Given the description of an element on the screen output the (x, y) to click on. 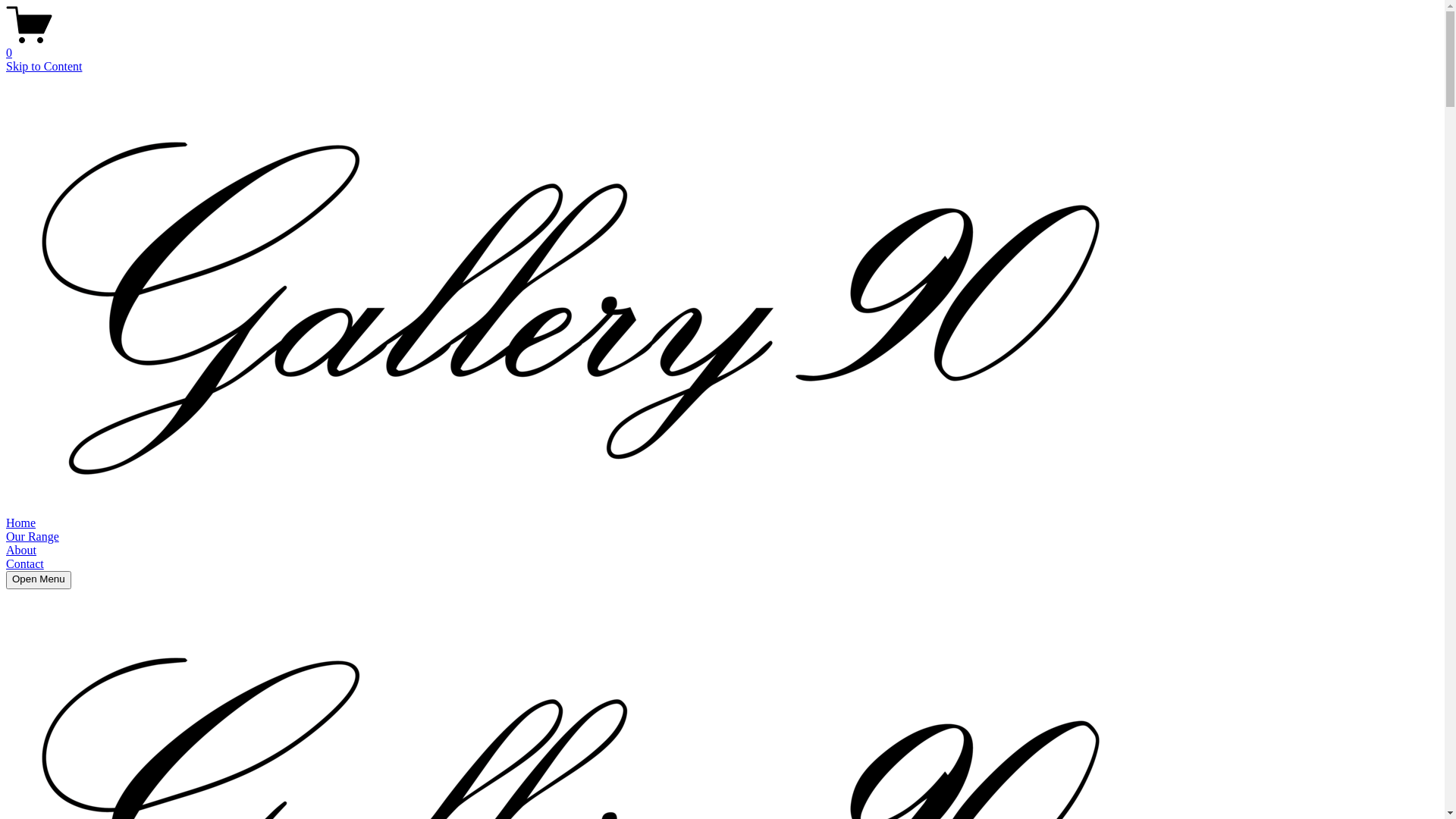
About Element type: text (21, 549)
0 Element type: text (722, 45)
Contact Element type: text (24, 563)
Our Range Element type: text (32, 536)
Open Menu Element type: text (38, 580)
Skip to Content Element type: text (43, 65)
Home Element type: text (20, 522)
